Given the description of an element on the screen output the (x, y) to click on. 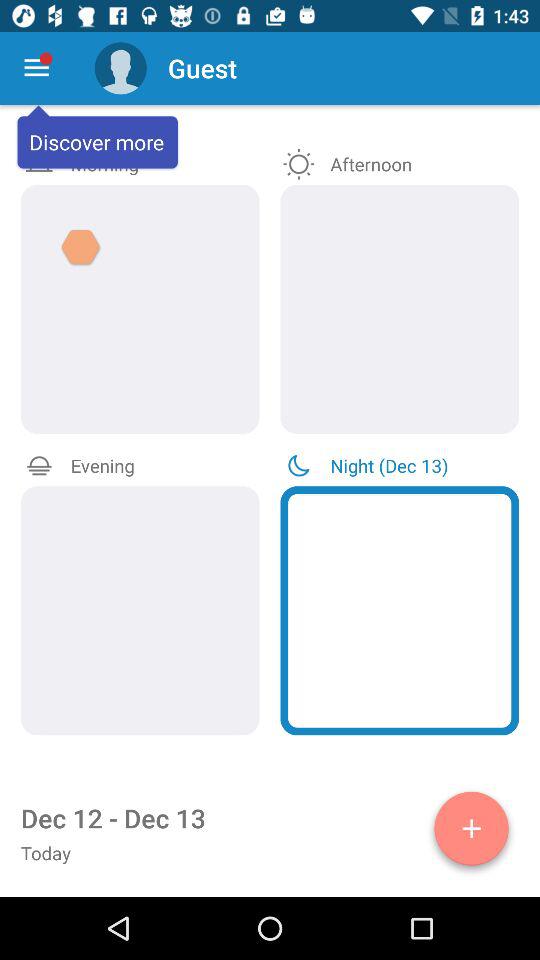
add date (471, 832)
